Given the description of an element on the screen output the (x, y) to click on. 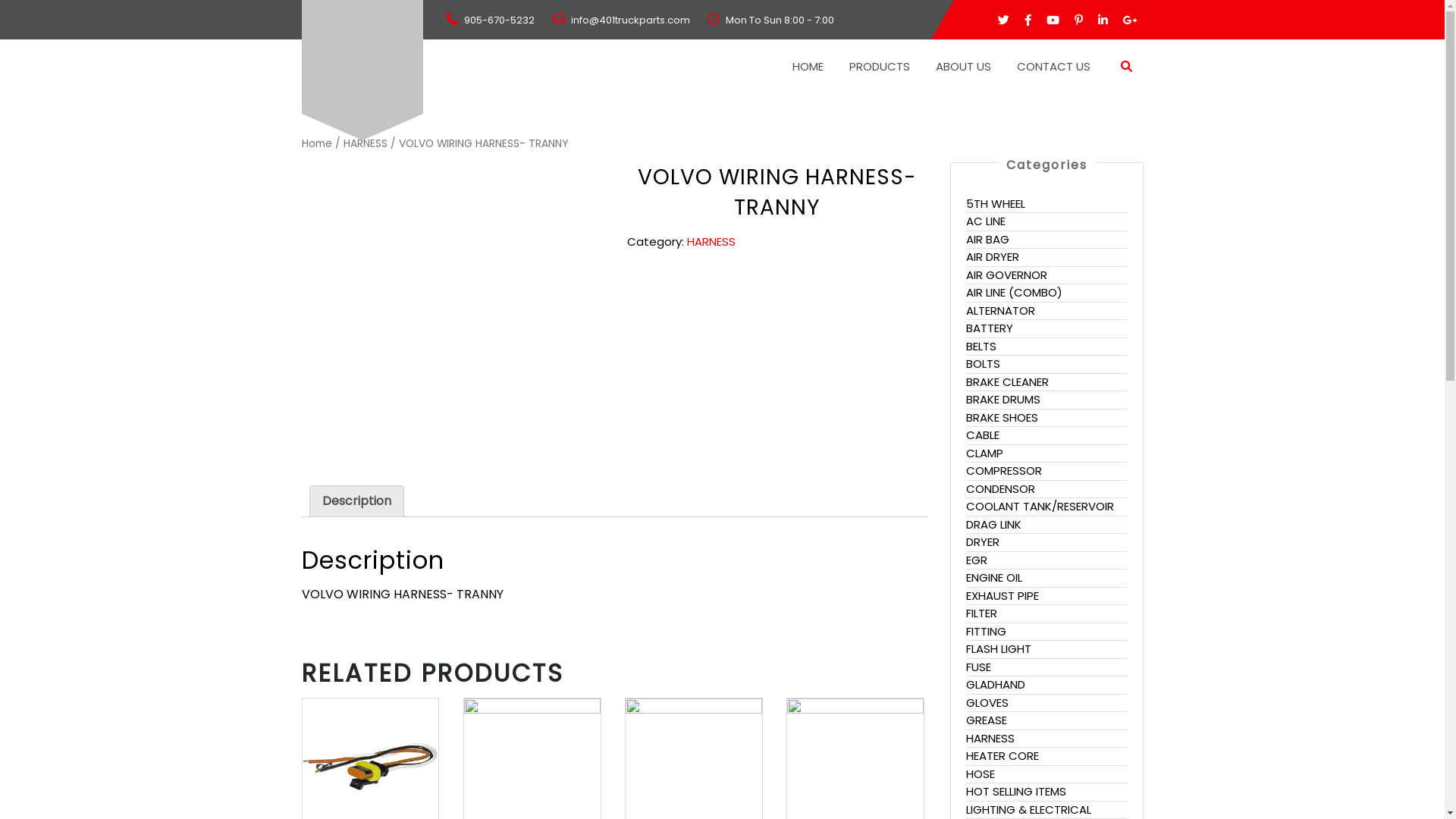
CONDENSOR Element type: text (1000, 488)
GLOVES Element type: text (987, 702)
FITTING Element type: text (986, 631)
AIR LINE (COMBO) Element type: text (1014, 292)
DRYER Element type: text (982, 541)
PRODUCTS Element type: text (879, 66)
ALTERNATOR Element type: text (1000, 310)
ENGINE OIL Element type: text (994, 577)
HOT SELLING ITEMS Element type: text (1016, 791)
BELTS Element type: text (981, 346)
DRAG LINK Element type: text (993, 524)
EGR Element type: text (976, 559)
FLASH LIGHT Element type: text (998, 648)
CABLE Element type: text (982, 434)
HOME Element type: text (806, 66)
5TH WHEEL Element type: text (995, 203)
FUSE Element type: text (978, 666)
COOLANT TANK/RESERVOIR Element type: text (1039, 506)
EXHAUST PIPE Element type: text (1002, 595)
HARNESS Element type: text (364, 143)
HEATER CORE Element type: text (1002, 755)
LIGHTING & ELECTRICAL Element type: text (1028, 809)
HOSE Element type: text (980, 773)
ABOUT US Element type: text (963, 66)
AIR DRYER Element type: text (992, 256)
AC LINE Element type: text (985, 221)
GREASE Element type: text (986, 720)
AIR GOVERNOR Element type: text (1006, 274)
CONTACT US Element type: text (1052, 66)
HARNESS Element type: text (990, 738)
Home Element type: text (316, 143)
BRAKE DRUMS Element type: text (1003, 399)
CLAMP Element type: text (984, 453)
COMPRESSOR Element type: text (1003, 470)
BRAKE CLEANER Element type: text (1007, 381)
Description Element type: text (355, 501)
BATTERY Element type: text (989, 327)
GLADHAND Element type: text (995, 684)
HARNESS Element type: text (711, 241)
BOLTS Element type: text (983, 363)
AIR BAG Element type: text (987, 239)
FILTER Element type: text (981, 613)
BRAKE SHOES Element type: text (1002, 417)
